Given the description of an element on the screen output the (x, y) to click on. 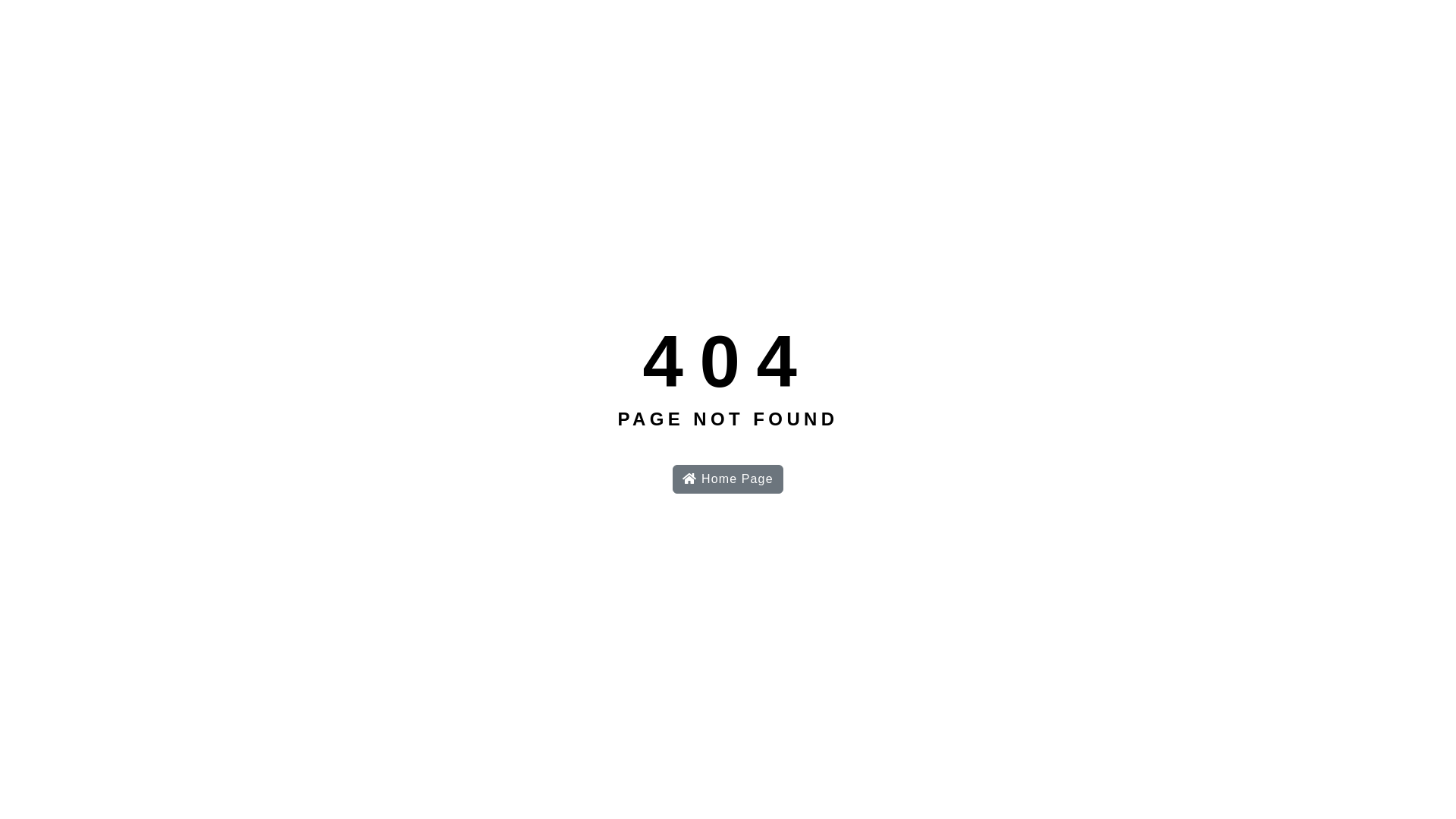
Home Page Element type: text (727, 478)
